Given the description of an element on the screen output the (x, y) to click on. 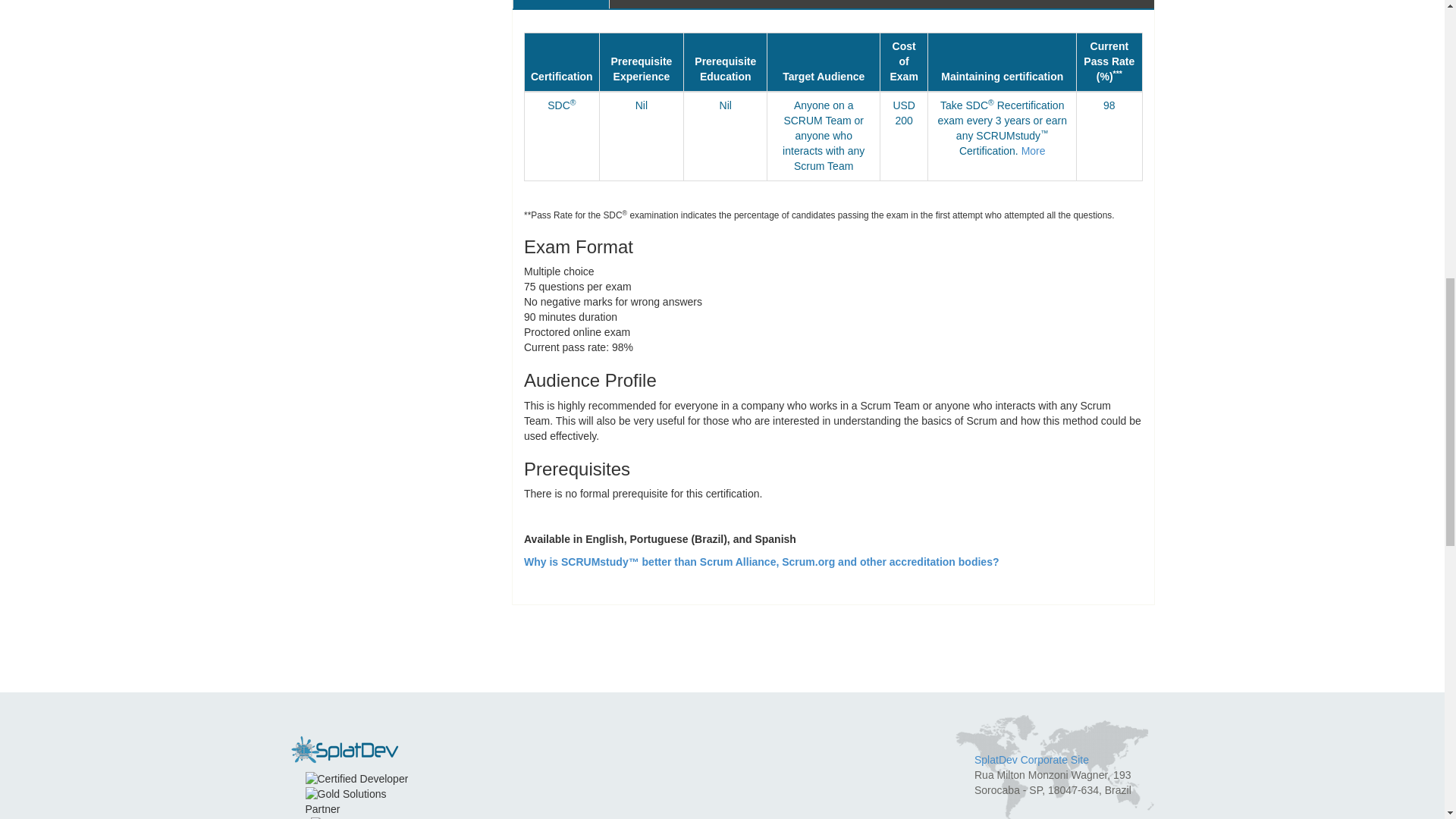
Officially Trained (356, 818)
Certified Developer (355, 779)
Gold Solutions Partner (359, 802)
